Given the description of an element on the screen output the (x, y) to click on. 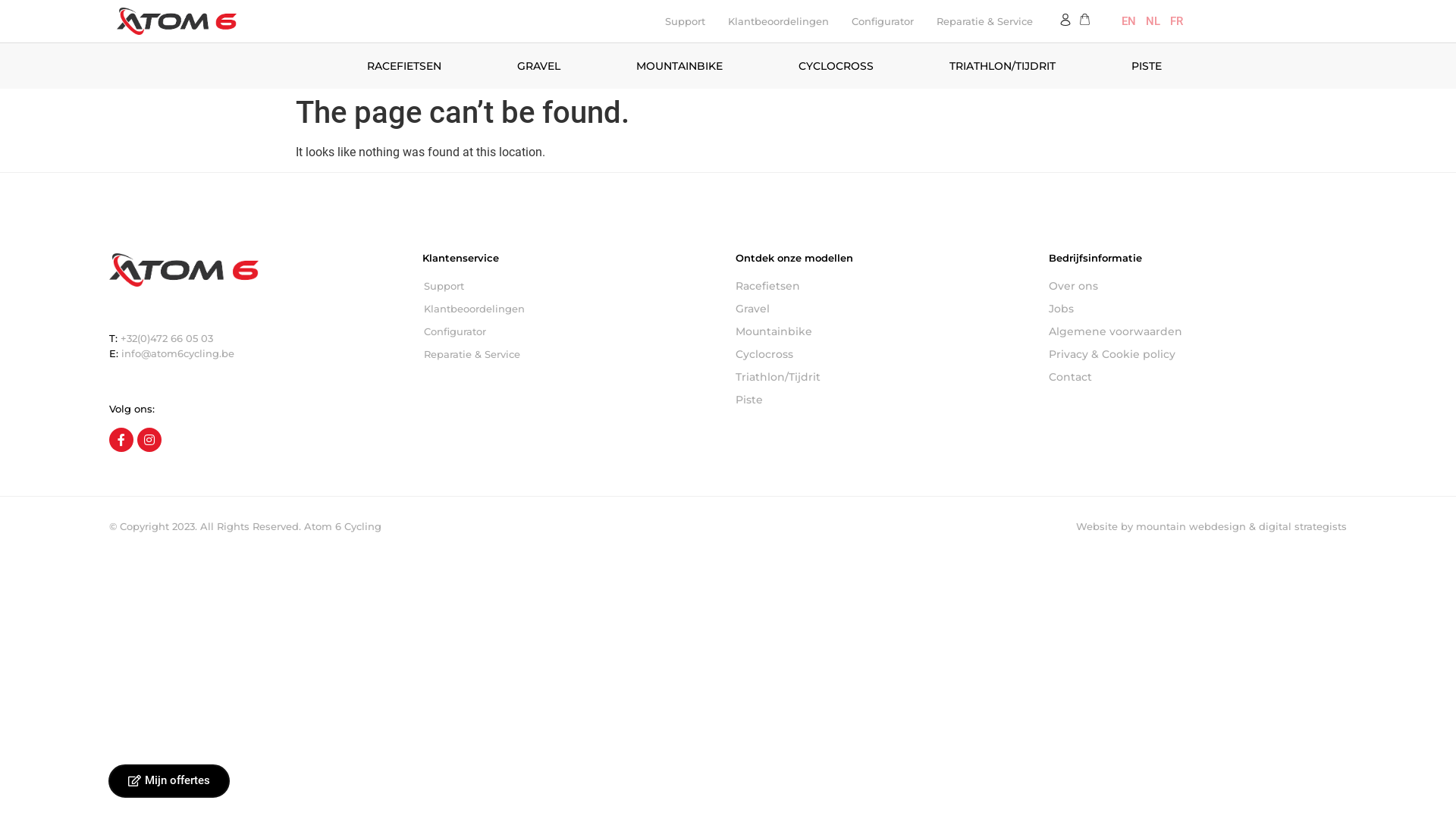
Mijn offertes Element type: text (169, 781)
info@atom6cycling.be Element type: text (177, 353)
Over ons Element type: text (1197, 285)
TRIATHLON/TIJDRIT Element type: text (1002, 65)
Racefietsen Element type: text (884, 285)
Gravel Element type: text (884, 308)
Configurator Element type: text (571, 330)
Jobs Element type: text (1197, 308)
Support Element type: text (684, 20)
Contact Element type: text (1197, 376)
Mountainbike Element type: text (884, 330)
mountain webdesign & digital strategists Element type: text (1240, 526)
Reparatie & Service Element type: text (571, 353)
Piste Element type: text (884, 399)
NL Element type: text (1152, 20)
MOUNTAINBIKE Element type: text (679, 65)
GRAVEL Element type: text (538, 65)
+32(0)472 66 05 03 Element type: text (166, 338)
EN Element type: text (1128, 20)
Klantbeoordelingen Element type: text (778, 20)
Klantbeoordelingen Element type: text (571, 308)
Algemene voorwaarden Element type: text (1197, 330)
PISTE Element type: text (1146, 65)
Cyclocross Element type: text (884, 353)
Triathlon/Tijdrit Element type: text (884, 376)
FR Element type: text (1176, 20)
Reparatie & Service Element type: text (984, 20)
Support Element type: text (571, 285)
CYCLOCROSS Element type: text (835, 65)
Privacy & Cookie policy Element type: text (1197, 353)
RACEFIETSEN Element type: text (404, 65)
Configurator Element type: text (882, 20)
